Given the description of an element on the screen output the (x, y) to click on. 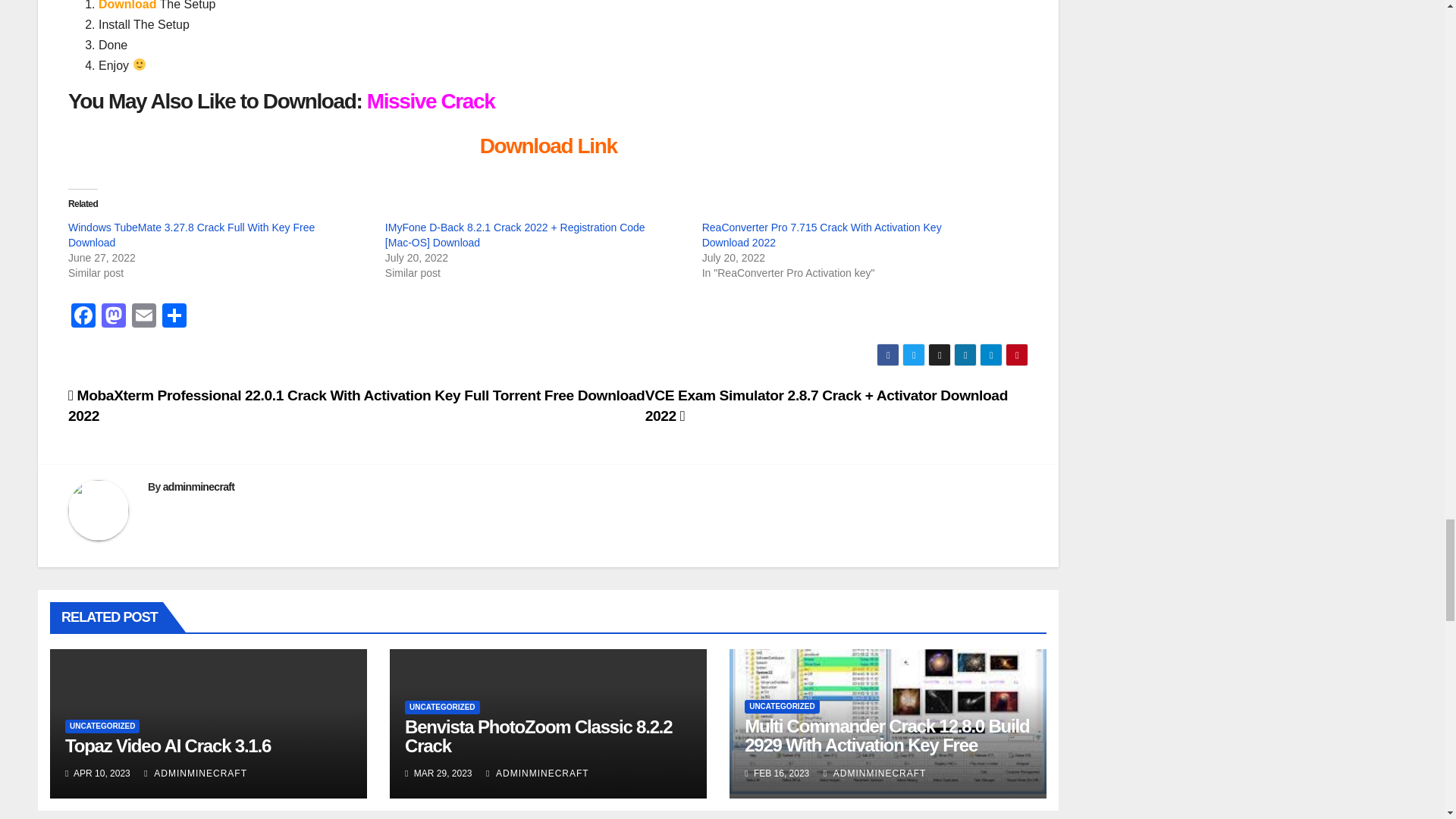
Email (143, 317)
Windows TubeMate 3.27.8 Crack Full With Key Free Download (191, 234)
Permalink to: Topaz Video AI Crack 3.1.6 (167, 745)
Facebook (83, 317)
Permalink to: Benvista PhotoZoom Classic 8.2.2 Crack (537, 735)
Mastodon (114, 317)
Missive Crack (430, 101)
Download (127, 5)
